Given the description of an element on the screen output the (x, y) to click on. 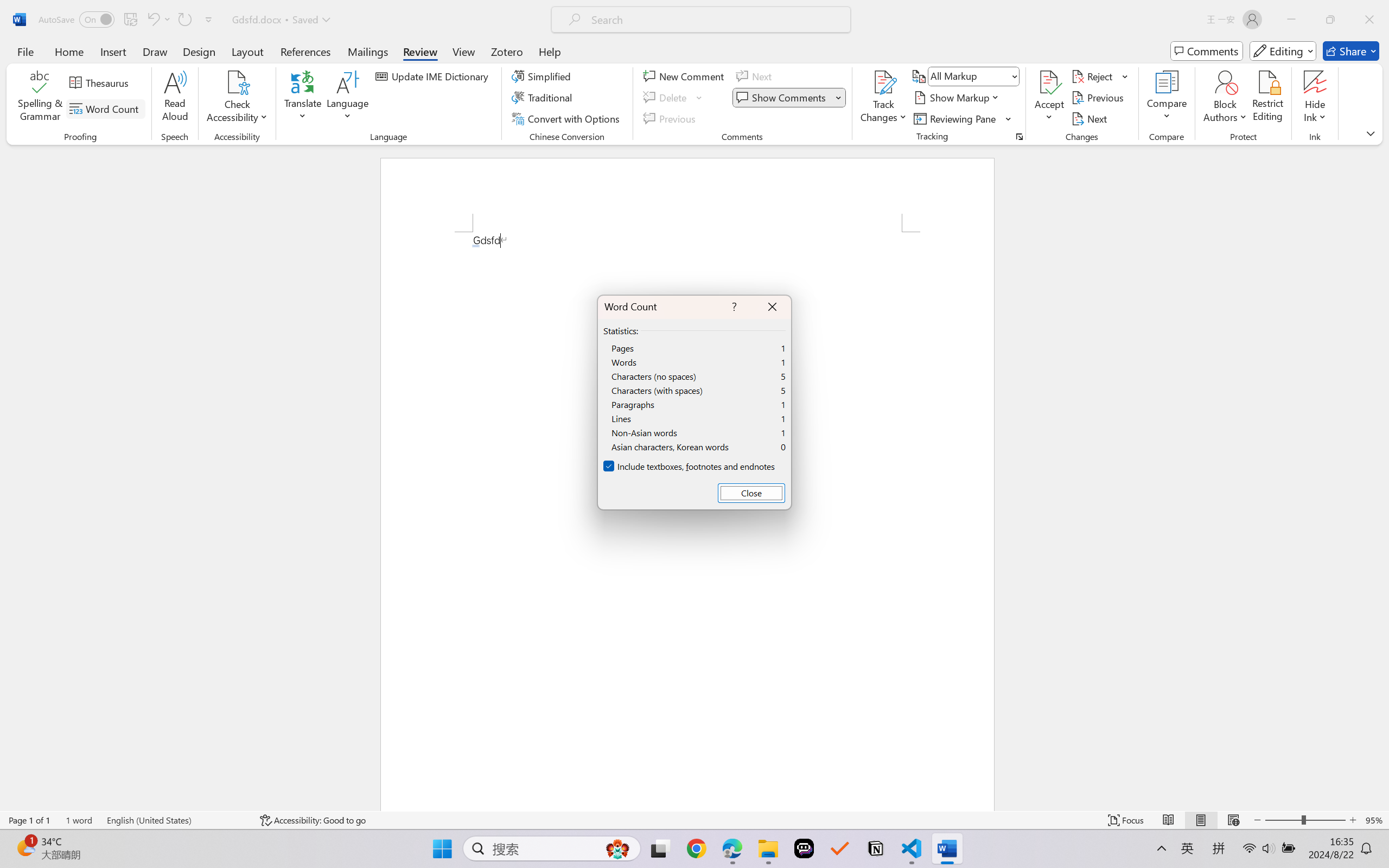
Read Aloud (174, 97)
Notion (875, 848)
Reject and Move to Next (1093, 75)
Update IME Dictionary... (433, 75)
Poe (804, 848)
Reject (1100, 75)
Microsoft search (715, 19)
Previous (1099, 97)
